Given the description of an element on the screen output the (x, y) to click on. 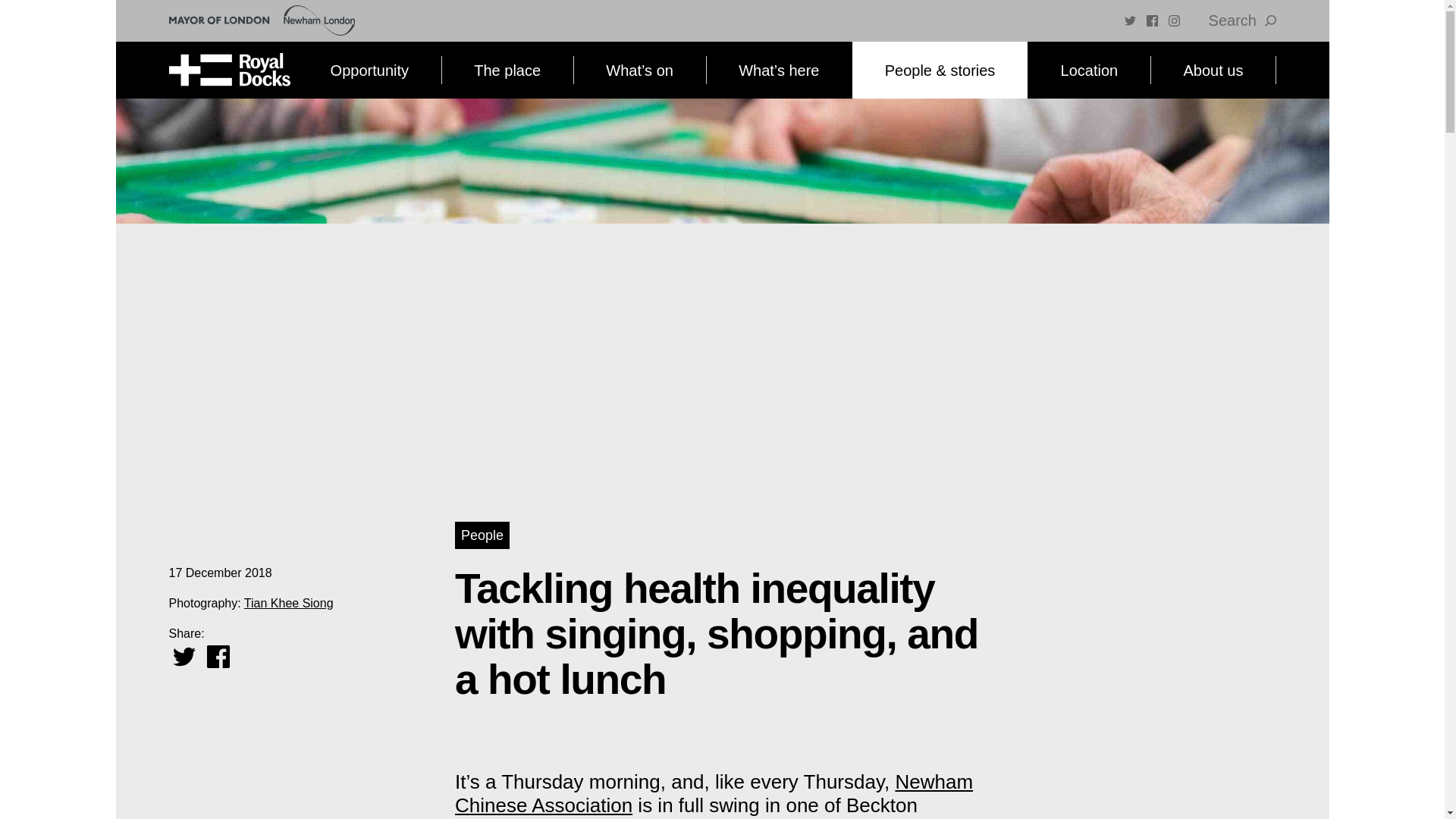
The place (507, 69)
Tian Khee Siong (288, 603)
Location (1088, 69)
Newham Chinese Association (713, 793)
About us (1212, 69)
Search (1242, 20)
Royal Docks (228, 69)
Opportunity (369, 69)
